Given the description of an element on the screen output the (x, y) to click on. 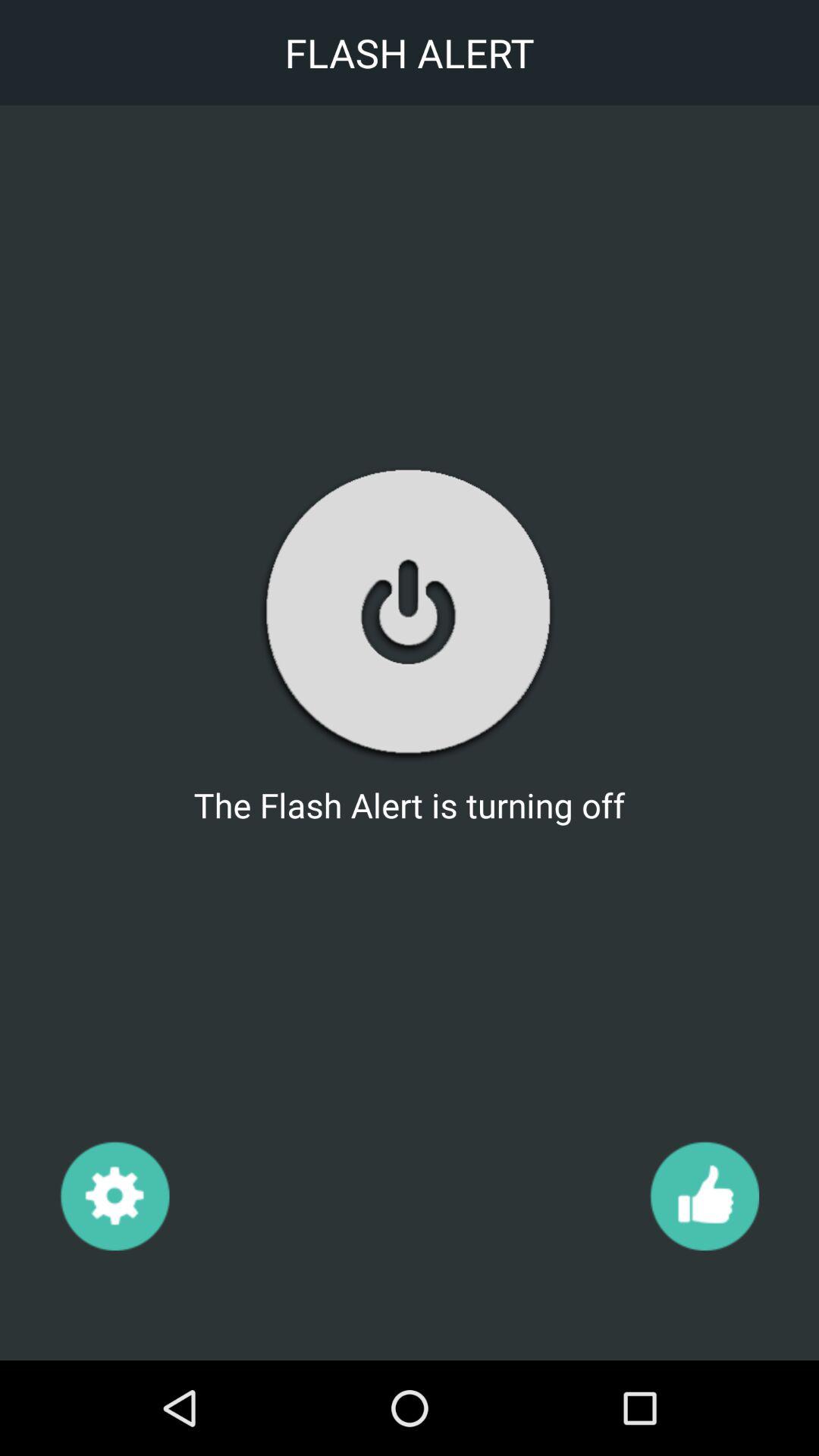
go to settings (114, 1195)
